Given the description of an element on the screen output the (x, y) to click on. 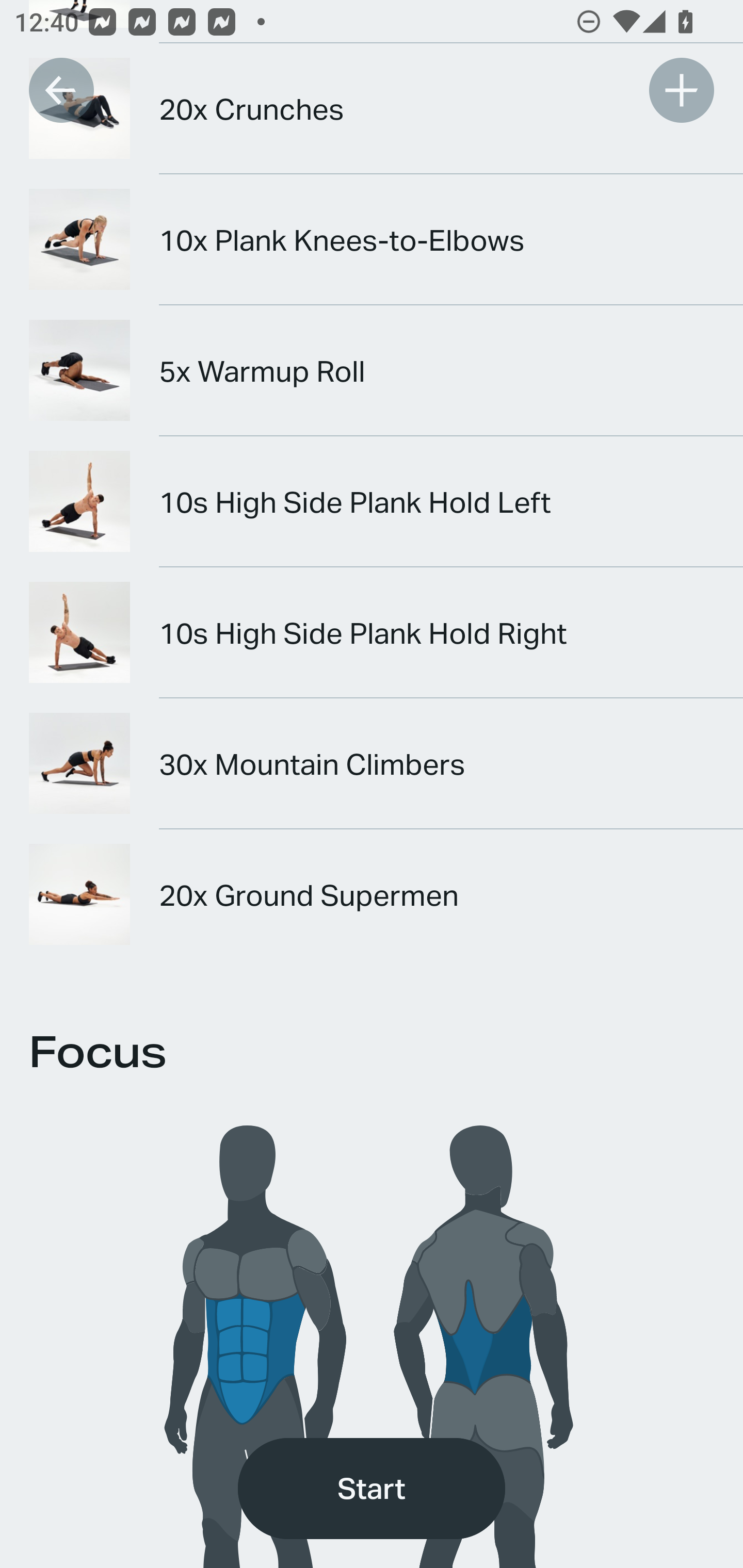
Go back (60, 90)
Log (681, 90)
Start (371, 1488)
